Given the description of an element on the screen output the (x, y) to click on. 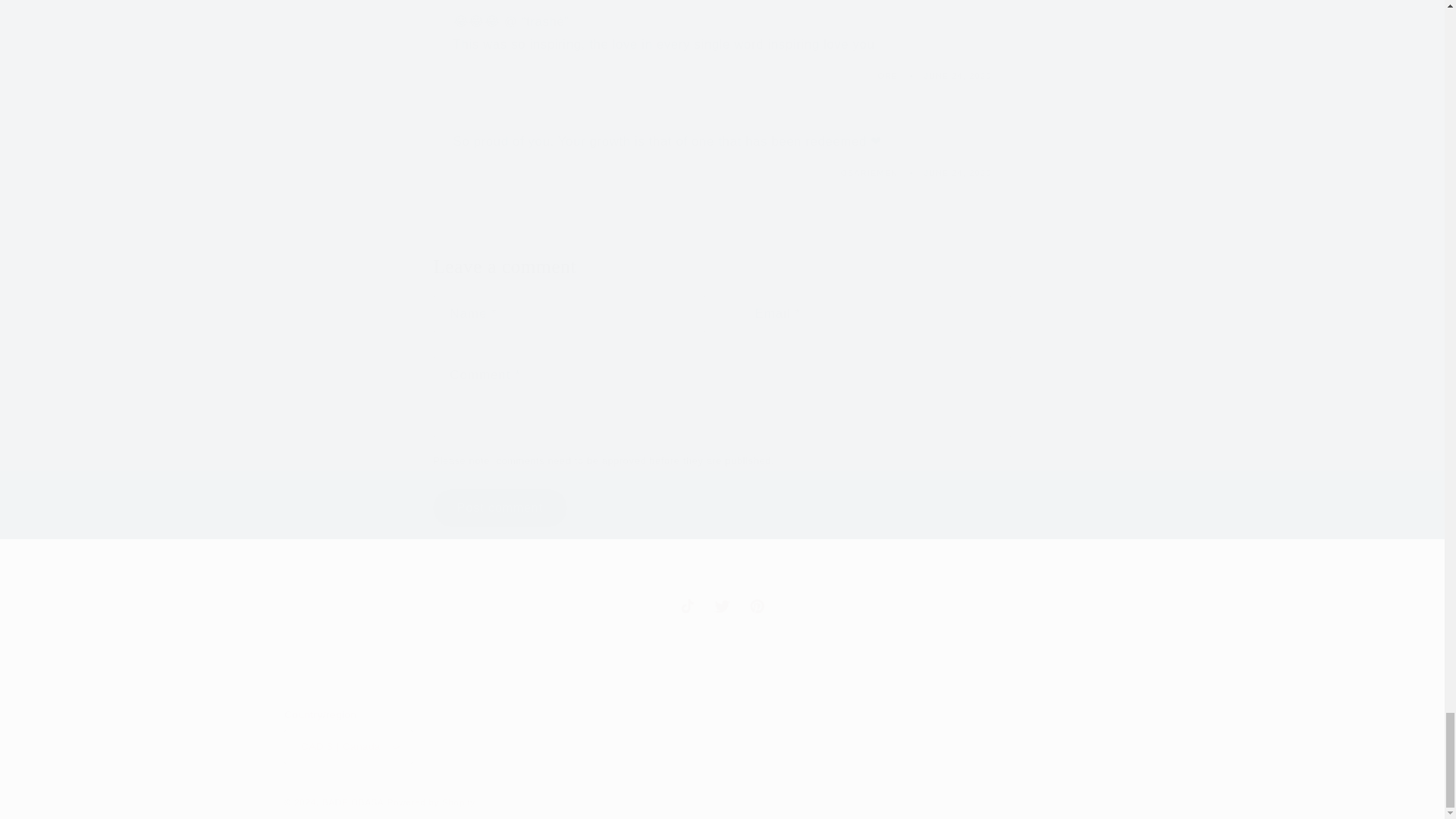
TikTok (686, 605)
Post comment (499, 507)
Powered by Shopify (431, 801)
Pinterest (756, 605)
Post comment (499, 507)
Twitter (721, 605)
